Given the description of an element on the screen output the (x, y) to click on. 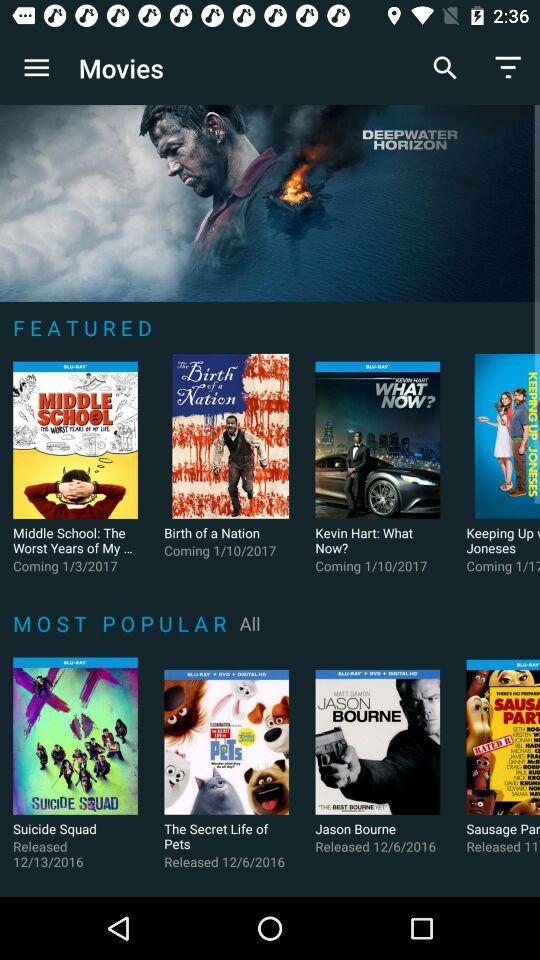
choose the icon to the left of all icon (122, 623)
